Given the description of an element on the screen output the (x, y) to click on. 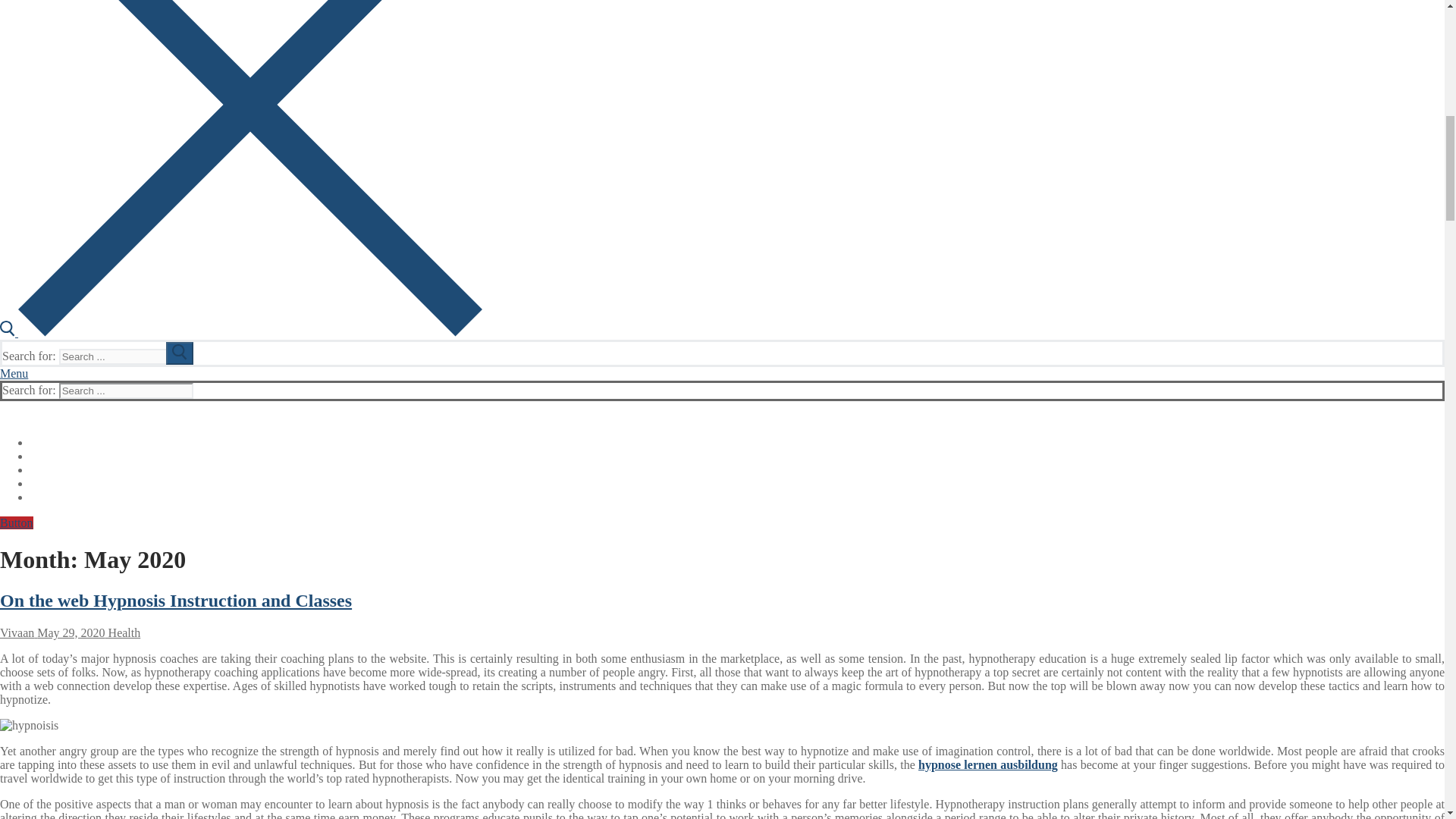
On the web Hypnosis Instruction and Classes (176, 600)
On the web Hypnosis Instruction and Classes (176, 600)
May 29, 2020 (68, 632)
Search for: (126, 356)
hypnose lernen ausbildung (988, 764)
Search for: (126, 390)
Health (122, 632)
Vivaan (16, 632)
Button (16, 522)
Menu (13, 373)
